Given the description of an element on the screen output the (x, y) to click on. 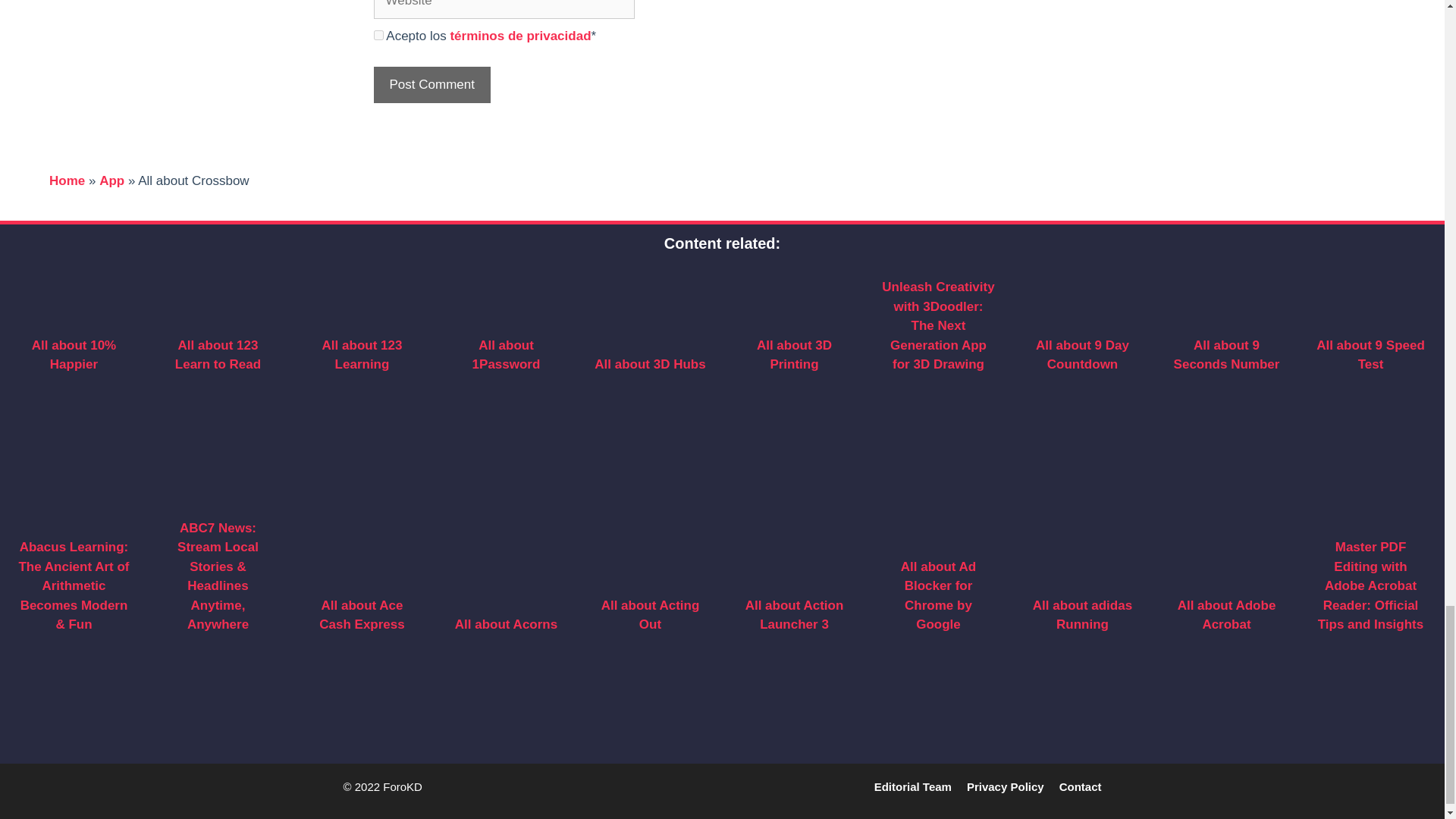
All about 123 Learn to Read (217, 355)
Post Comment (430, 84)
on (377, 35)
All about 3D Hubs (649, 364)
All about 3D Printing (794, 355)
App (111, 179)
All about 123 Learning (362, 355)
All about 9 Day Countdown (1082, 355)
All about 9 Seconds Number (1226, 355)
